Given the description of an element on the screen output the (x, y) to click on. 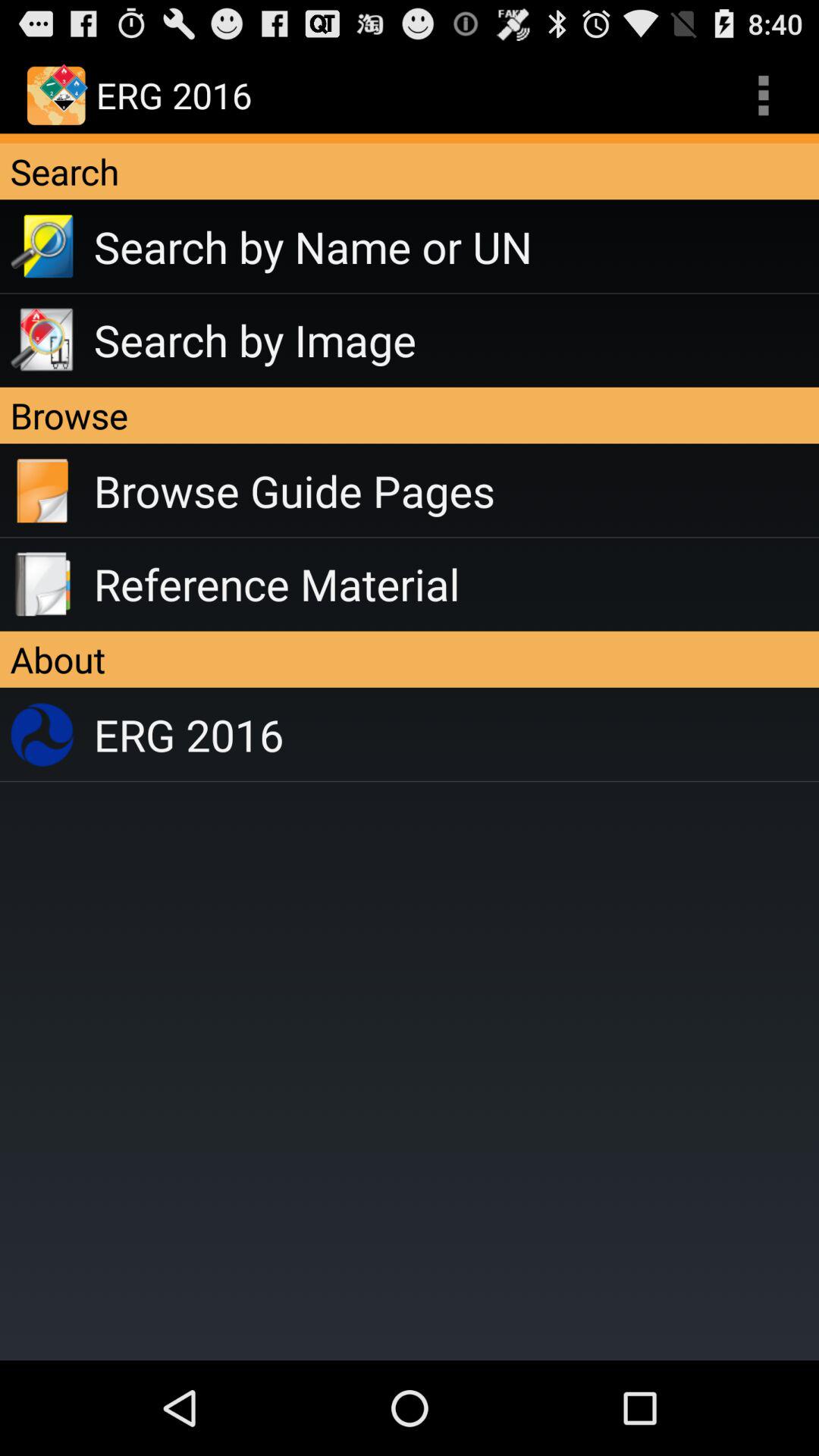
open the item next to erg 2016 app (763, 95)
